Given the description of an element on the screen output the (x, y) to click on. 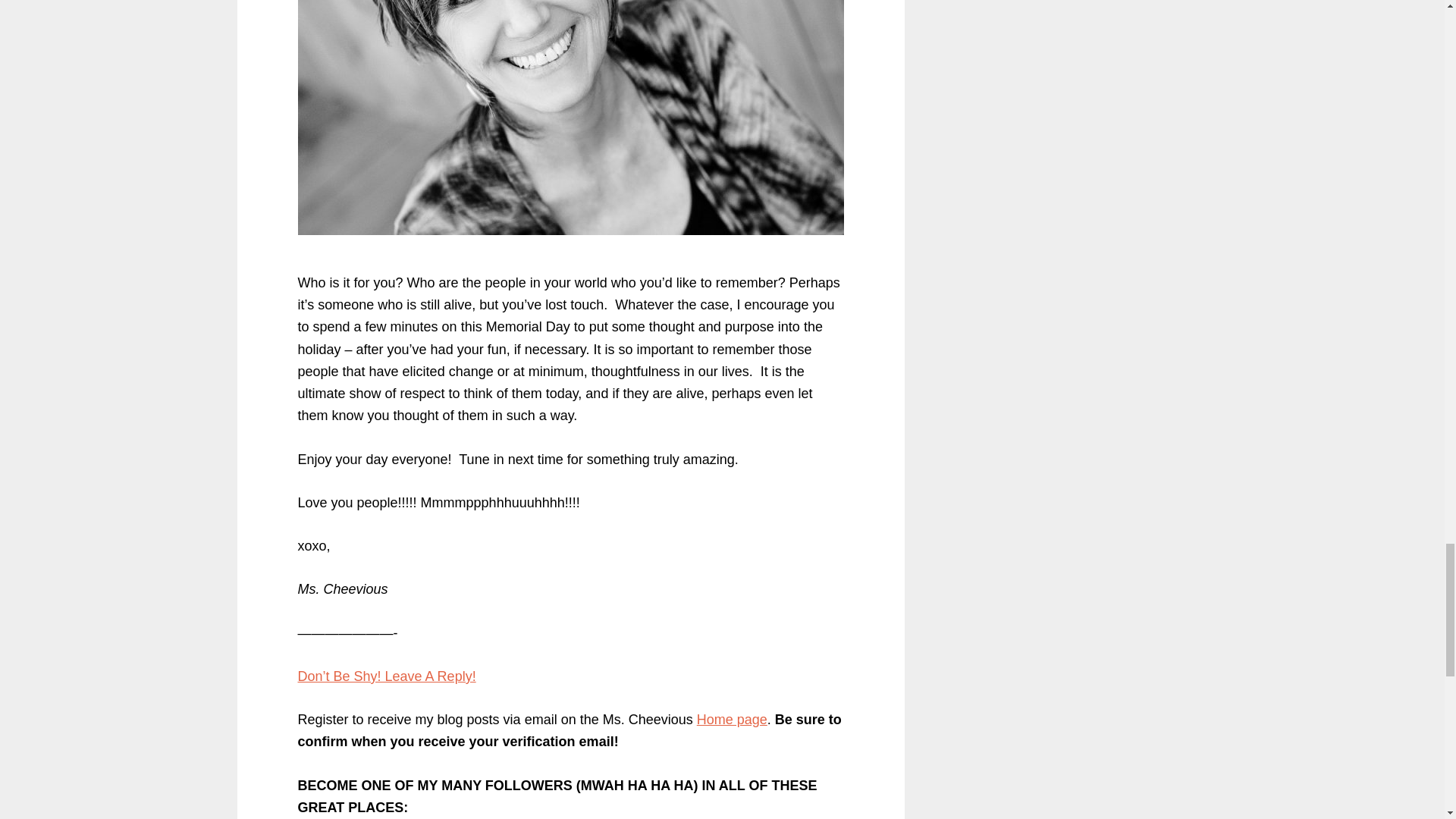
Mimi Sherwood Larimore - a.k.a. Maven (570, 117)
Home page (732, 719)
